Given the description of an element on the screen output the (x, y) to click on. 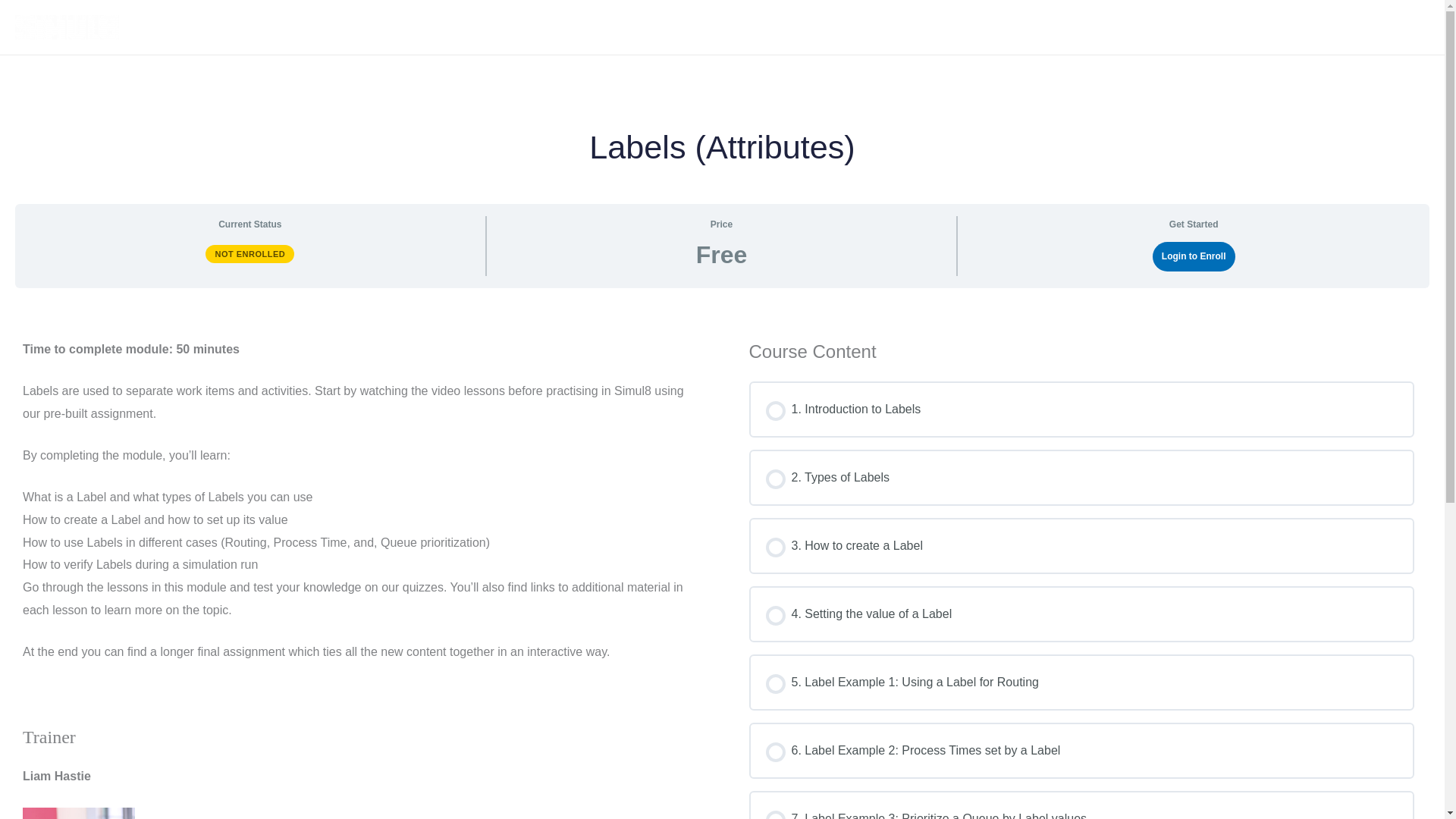
2. Types of Labels (1081, 477)
6. Label Example 2: Process Times set by a Label (1081, 750)
7. Label Example 3: Prioritize a Queue by Label values (1081, 813)
Login (1403, 26)
Login to Enroll (1193, 256)
4. Setting the value of a Label (1081, 613)
5. Label Example 1: Using a Label for Routing (1081, 681)
Home (1352, 26)
3. How to create a Label (1081, 545)
1. Introduction to Labels (1081, 409)
